Given the description of an element on the screen output the (x, y) to click on. 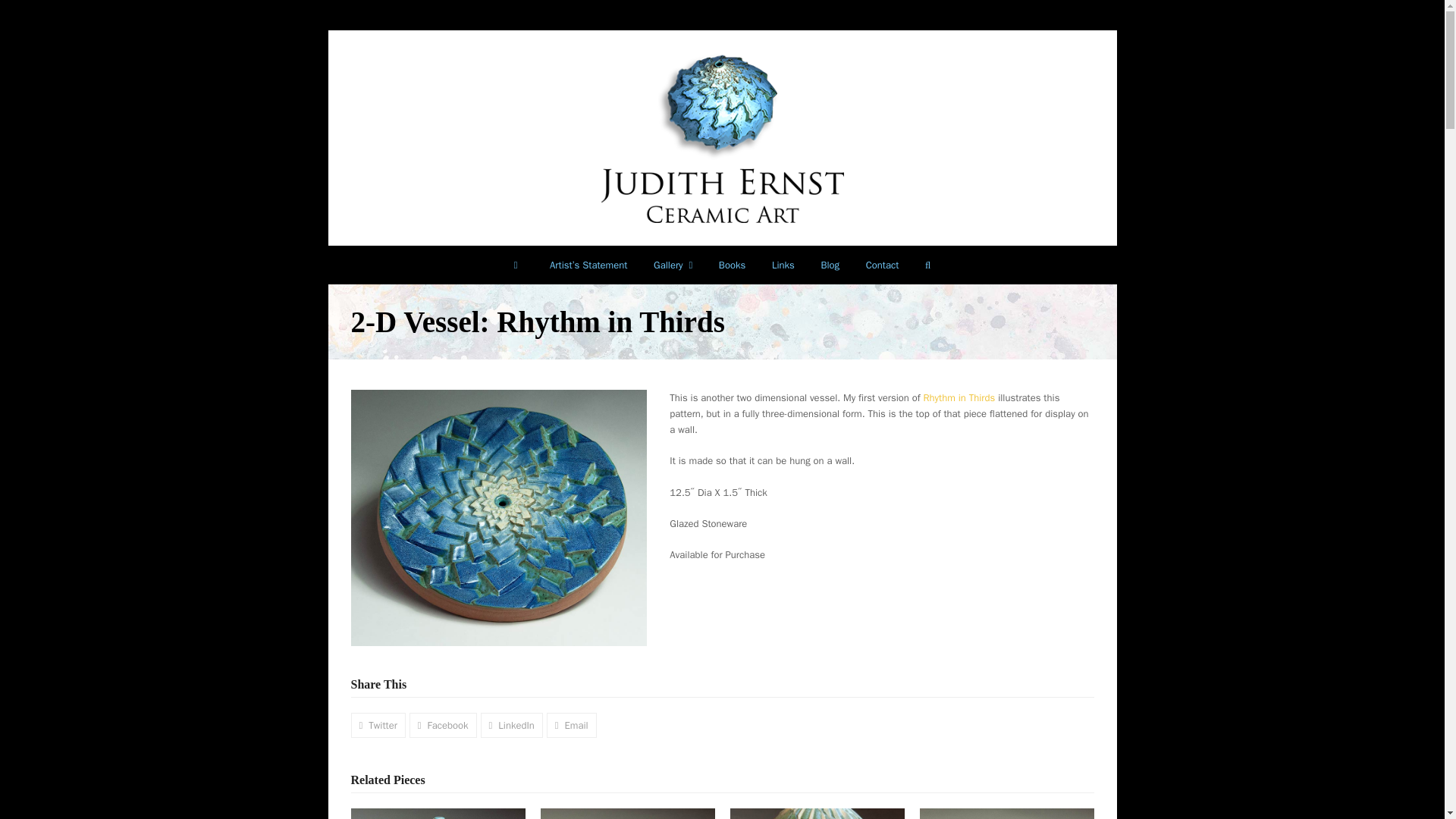
LinkedIn (511, 724)
Twitter (377, 724)
Gallery (673, 265)
Blog (829, 265)
Contact (881, 265)
Facebook (443, 724)
Email (571, 724)
Rhythm in Thirds (958, 397)
Books (731, 265)
Links (783, 265)
